Given the description of an element on the screen output the (x, y) to click on. 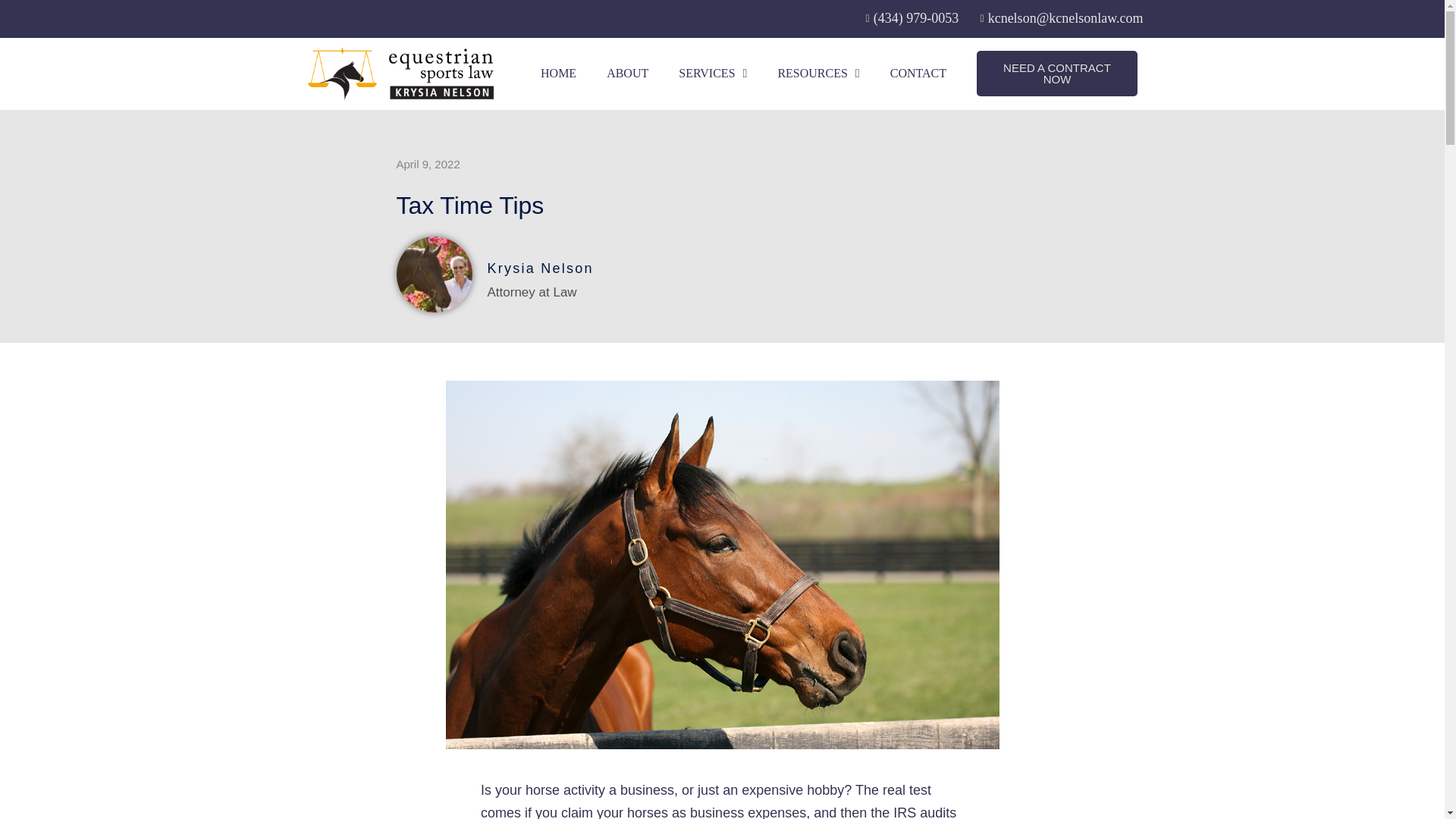
CONTACT (917, 73)
HOME (630, 62)
ABOUT (705, 62)
RESOURCES (818, 73)
April 9, 2022 (428, 164)
NEED A CONTRACT NOW (1056, 73)
SERVICES (706, 73)
